Given the description of an element on the screen output the (x, y) to click on. 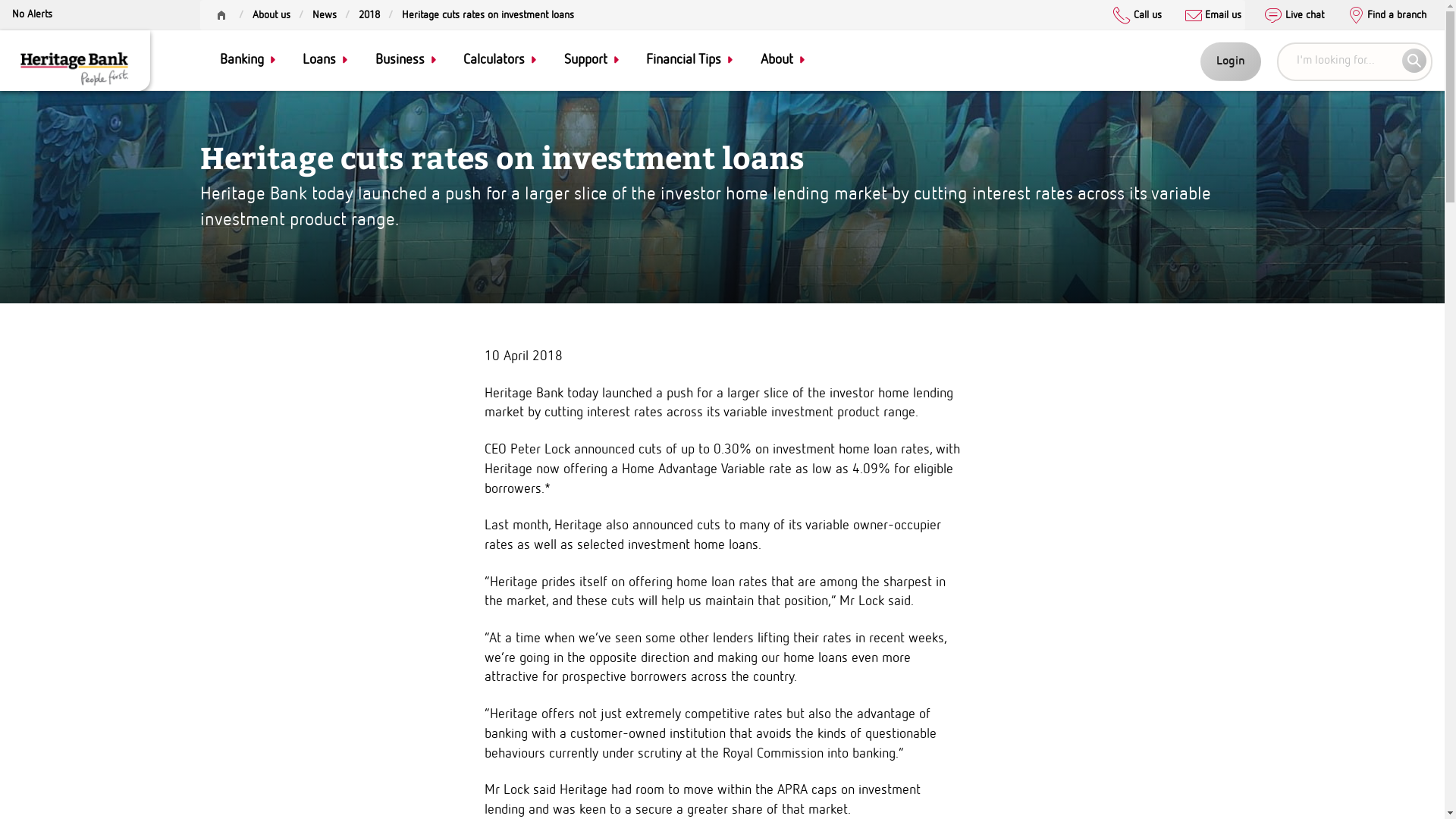
Heritage cuts rates on investment loans Element type: text (487, 14)
Email us Element type: text (1212, 17)
About us Element type: text (270, 59)
2018 Element type: text (368, 59)
Login Element type: text (1230, 61)
News Element type: text (324, 59)
Heritage cuts rates on investment loans Element type: text (487, 59)
About us Element type: text (270, 14)
Search Element type: hover (1414, 60)
Live chat Element type: text (1293, 17)
News Element type: text (324, 14)
Find a branch Element type: text (1386, 17)
Alert Button Element type: hover (31, 16)
2018 Element type: text (368, 14)
Call us Element type: text (1136, 17)
